Given the description of an element on the screen output the (x, y) to click on. 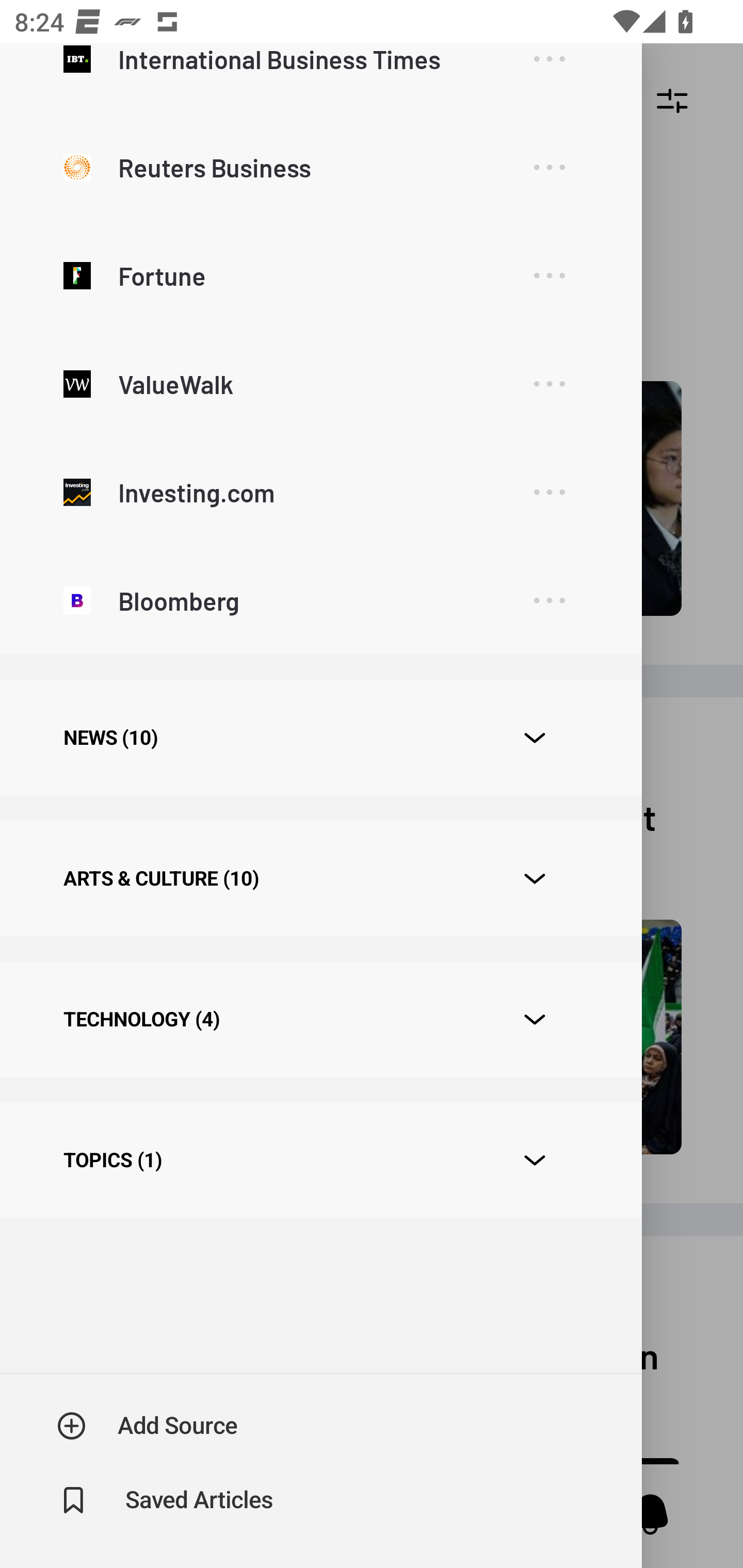
More Options (548, 72)
Writer Logo Reuters Business More Options (320, 166)
More Options (548, 167)
Writer Logo Fortune More Options (320, 275)
More Options (548, 275)
Writer Logo ValueWalk More Options (320, 383)
More Options (548, 384)
Writer Logo Investing.com More Options (320, 491)
More Options (548, 493)
Writer Logo Bloomberg More Options (320, 599)
More Options (548, 601)
NEWS  (10) Expand Button (320, 737)
Expand Button (534, 737)
ARTS & CULTURE  (10) Expand Button (320, 878)
Expand Button (534, 878)
TECHNOLOGY  (4) Expand Button (320, 1019)
Expand Button (534, 1019)
TOPICS  (1) Expand Button (320, 1160)
Expand Button (534, 1160)
Open Content Store Add Source (147, 1425)
Open Saved News  Saved Articles (166, 1500)
